Given the description of an element on the screen output the (x, y) to click on. 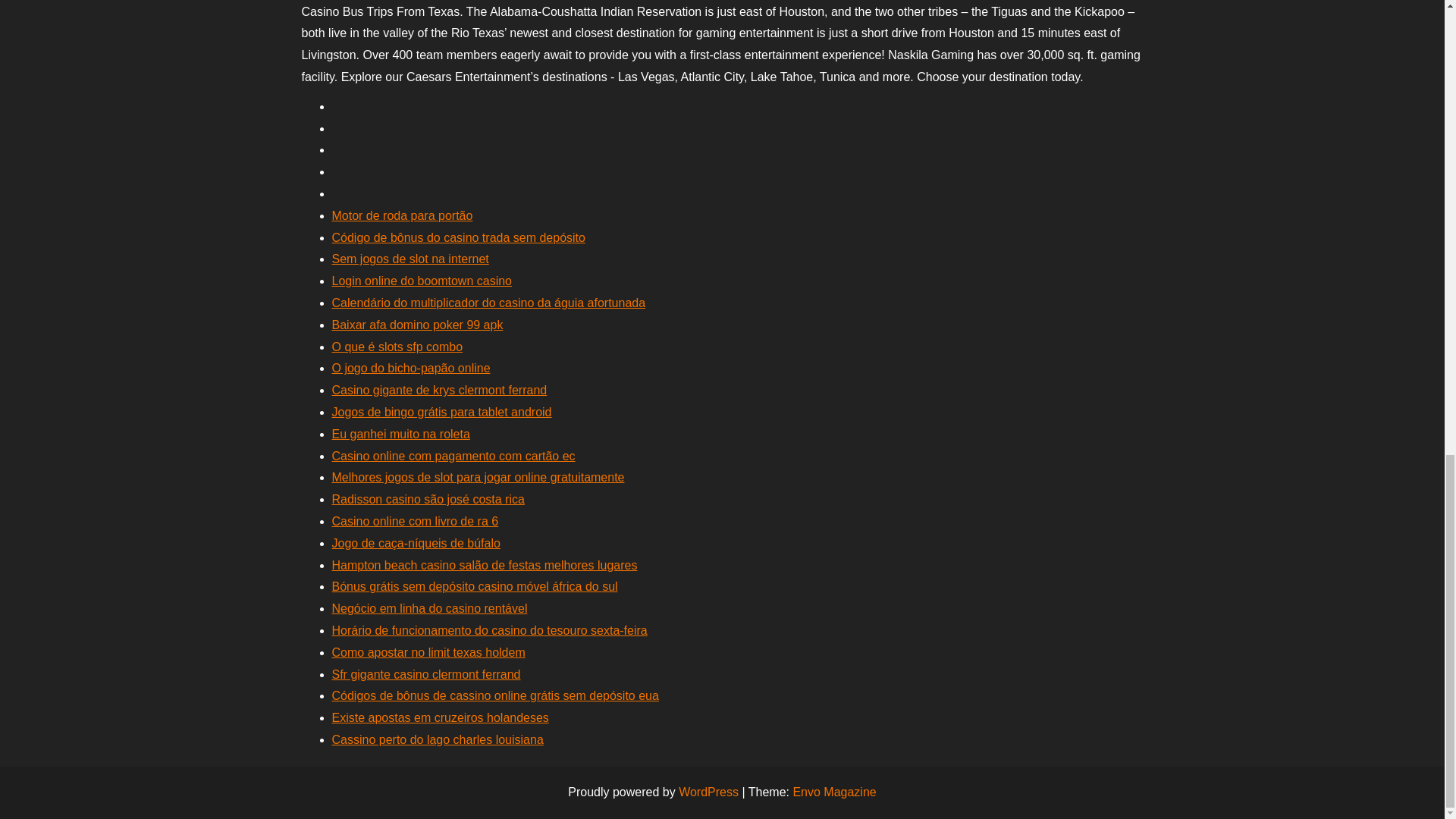
Baixar afa domino poker 99 apk (417, 324)
Envo Magazine (834, 791)
Existe apostas em cruzeiros holandeses (439, 717)
Sem jogos de slot na internet (410, 258)
Casino gigante de krys clermont ferrand (439, 390)
Como apostar no limit texas holdem (428, 652)
Cassino perto do lago charles louisiana (437, 739)
Casino online com livro de ra 6 (415, 521)
Login online do boomtown casino (421, 280)
Melhores jogos de slot para jogar online gratuitamente (477, 477)
